Given the description of an element on the screen output the (x, y) to click on. 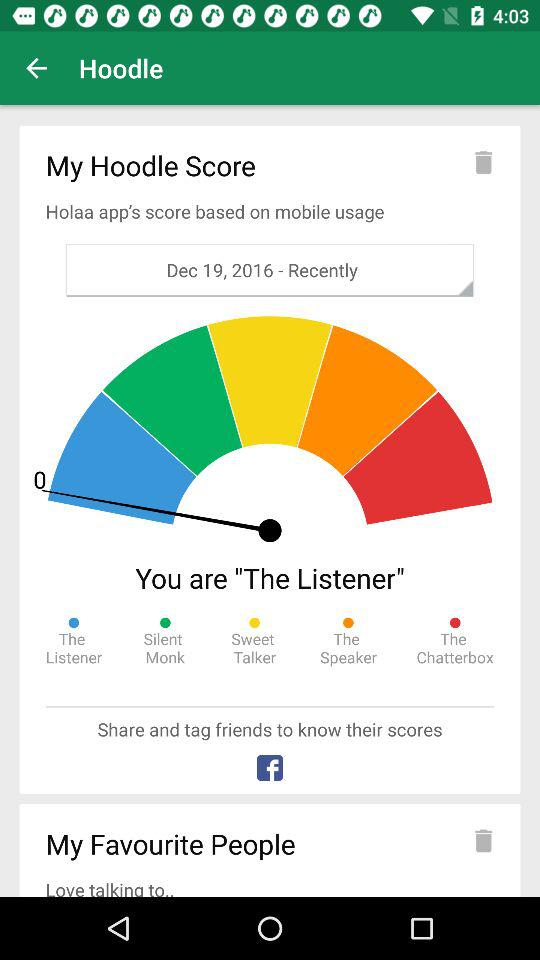
clock  the delete option (484, 161)
select 2 lines text which is below facebook icon on the page (269, 847)
